Given the description of an element on the screen output the (x, y) to click on. 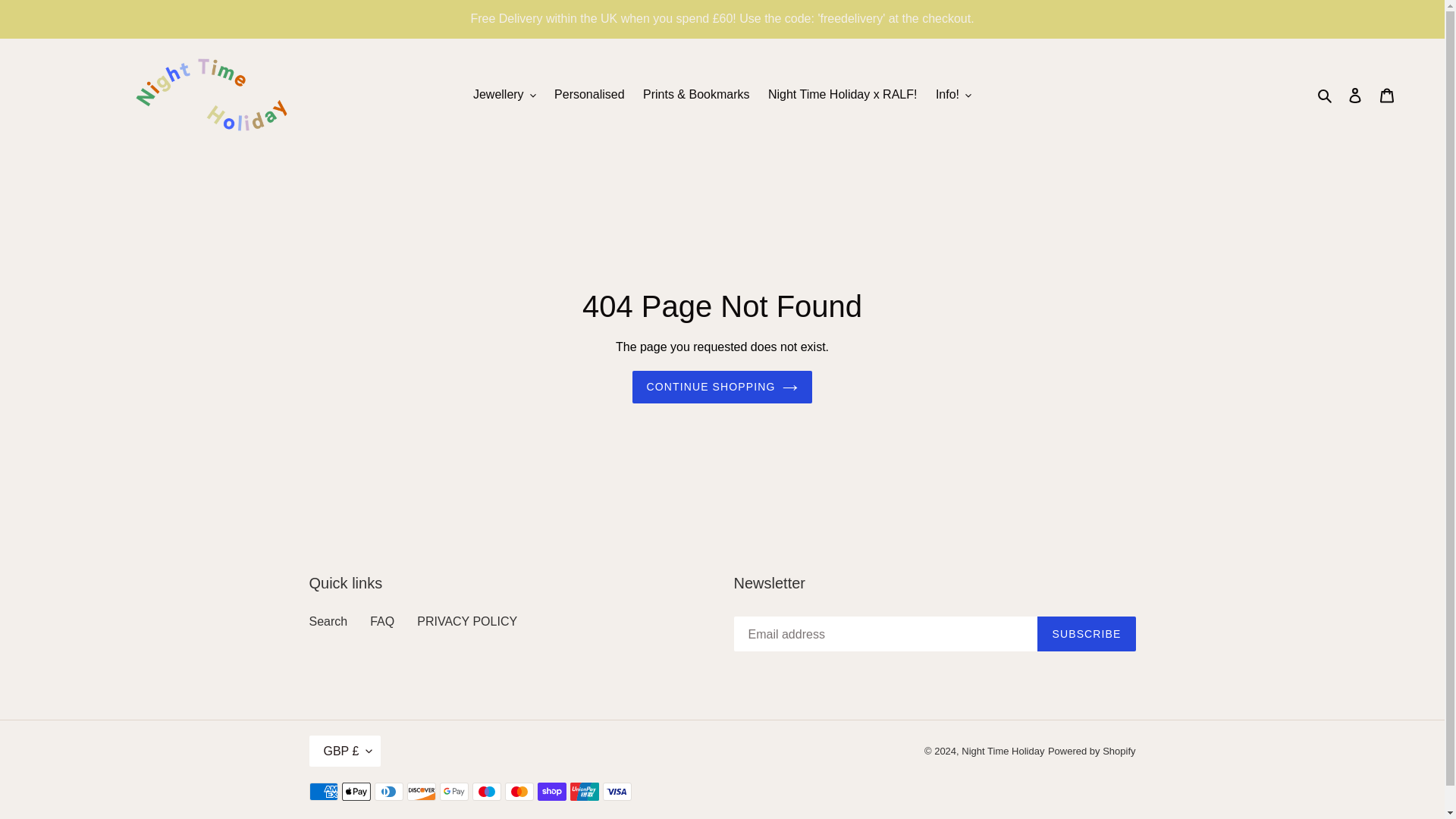
Personalised (589, 94)
Cart (1387, 94)
Search (1326, 94)
Night Time Holiday x RALF! (842, 94)
Jewellery (504, 94)
Info! (953, 94)
Log in (1355, 94)
